Given the description of an element on the screen output the (x, y) to click on. 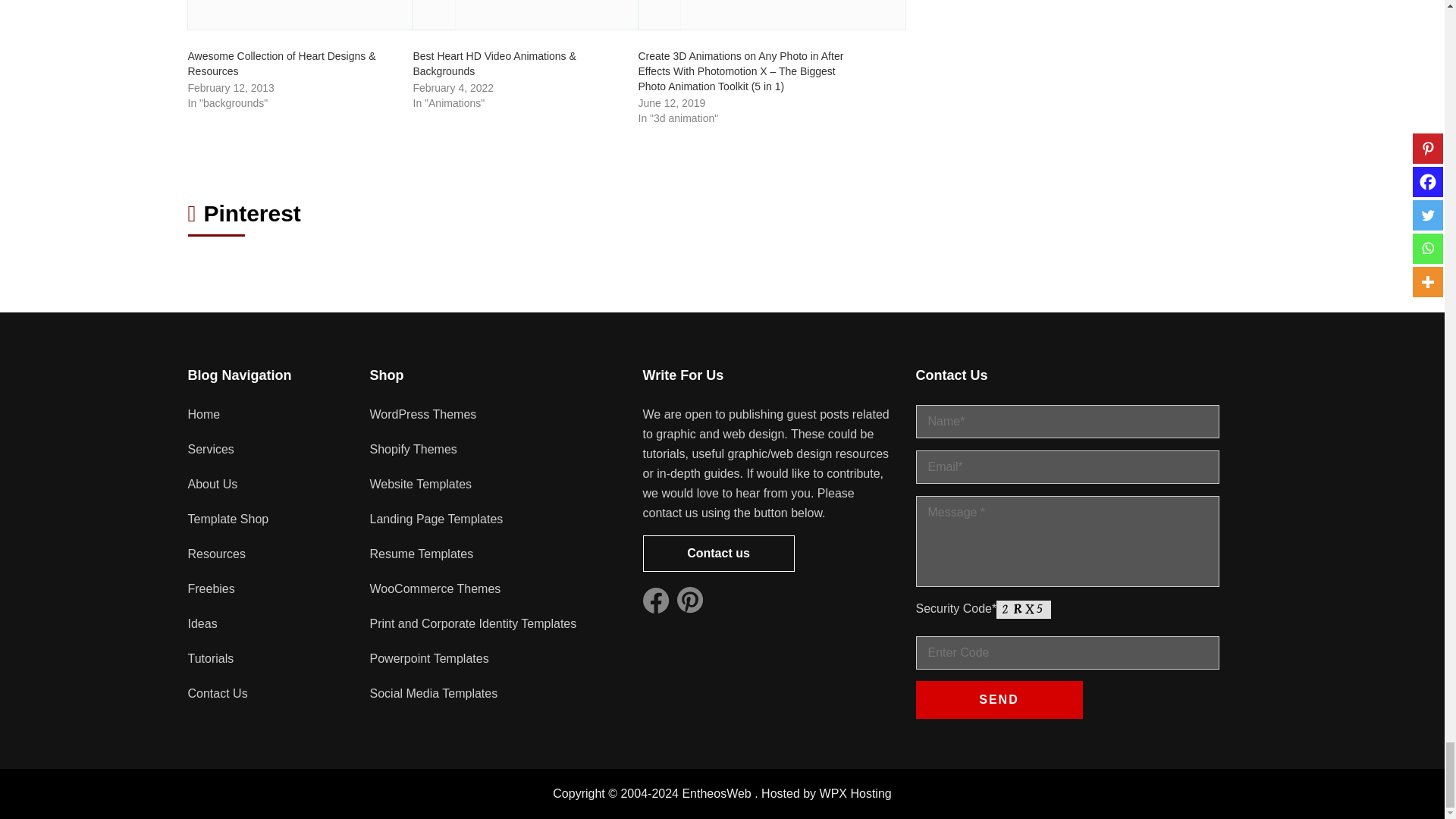
Send (999, 699)
